Given the description of an element on the screen output the (x, y) to click on. 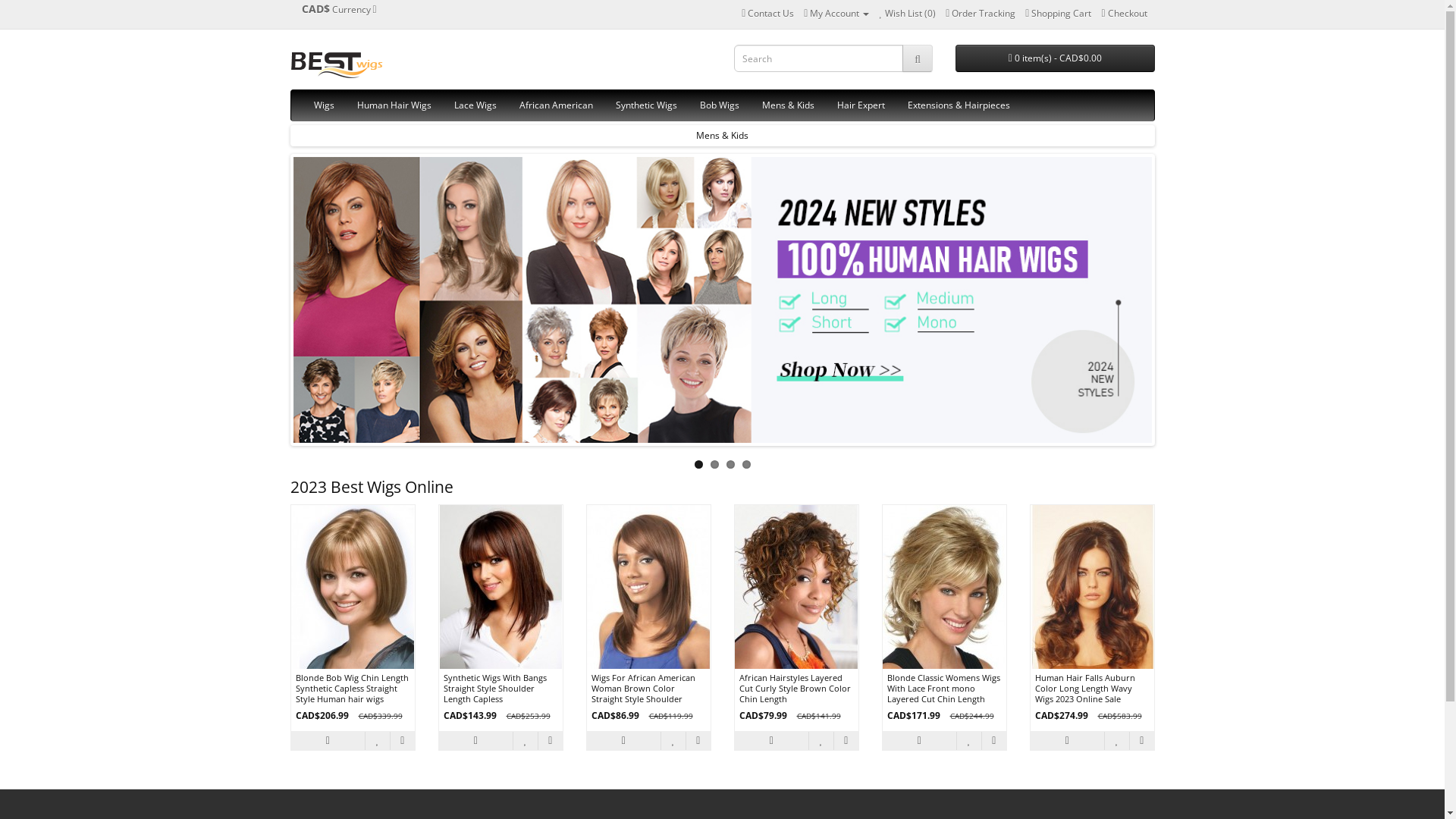
0 item(s) - CAD$0.00 Element type: text (1054, 58)
African American Element type: text (556, 105)
Wigs Element type: text (323, 105)
Extensions & Hairpieces Element type: text (958, 105)
Order Tracking Element type: text (980, 12)
Wish List (0) Element type: text (906, 12)
Straight Human Hair Wigs Element type: text (722, 134)
Shopping Cart Element type: text (1058, 12)
Checkout Element type: text (1123, 12)
Mens & Kids Element type: text (787, 105)
Bob Wigs Element type: text (719, 105)
Contact Us Element type: text (767, 12)
CAD$ Currency  Element type: text (339, 9)
Synthetic Wigs Element type: text (645, 105)
Lace Wigs Element type: text (475, 105)
bestwigs Element type: hover (335, 62)
Human Hair Wigs Element type: text (393, 105)
My Account Element type: text (836, 12)
Hair Expert Element type: text (860, 105)
